Given the description of an element on the screen output the (x, y) to click on. 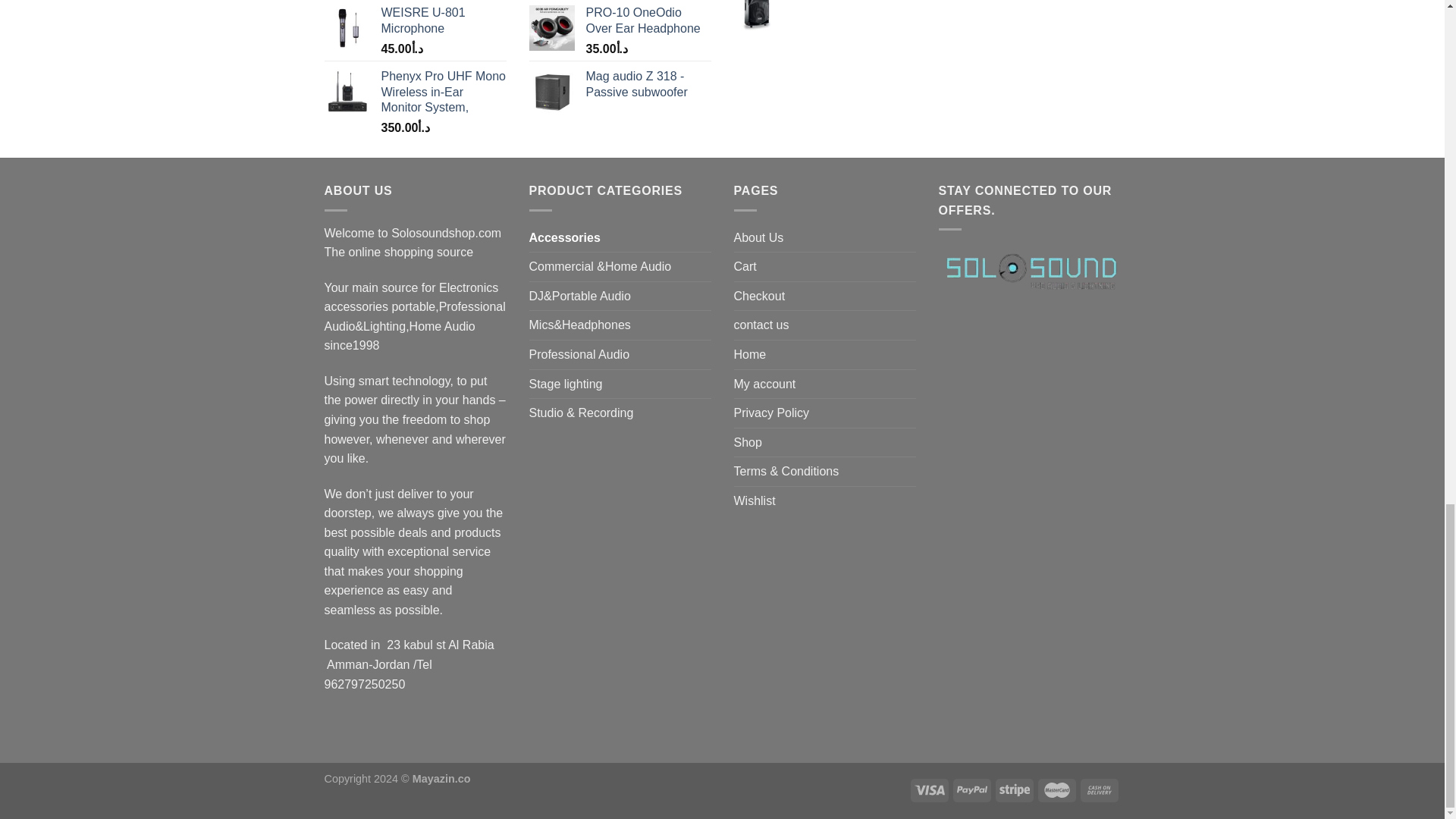
Stay connected to our offers. (1030, 269)
